Given the description of an element on the screen output the (x, y) to click on. 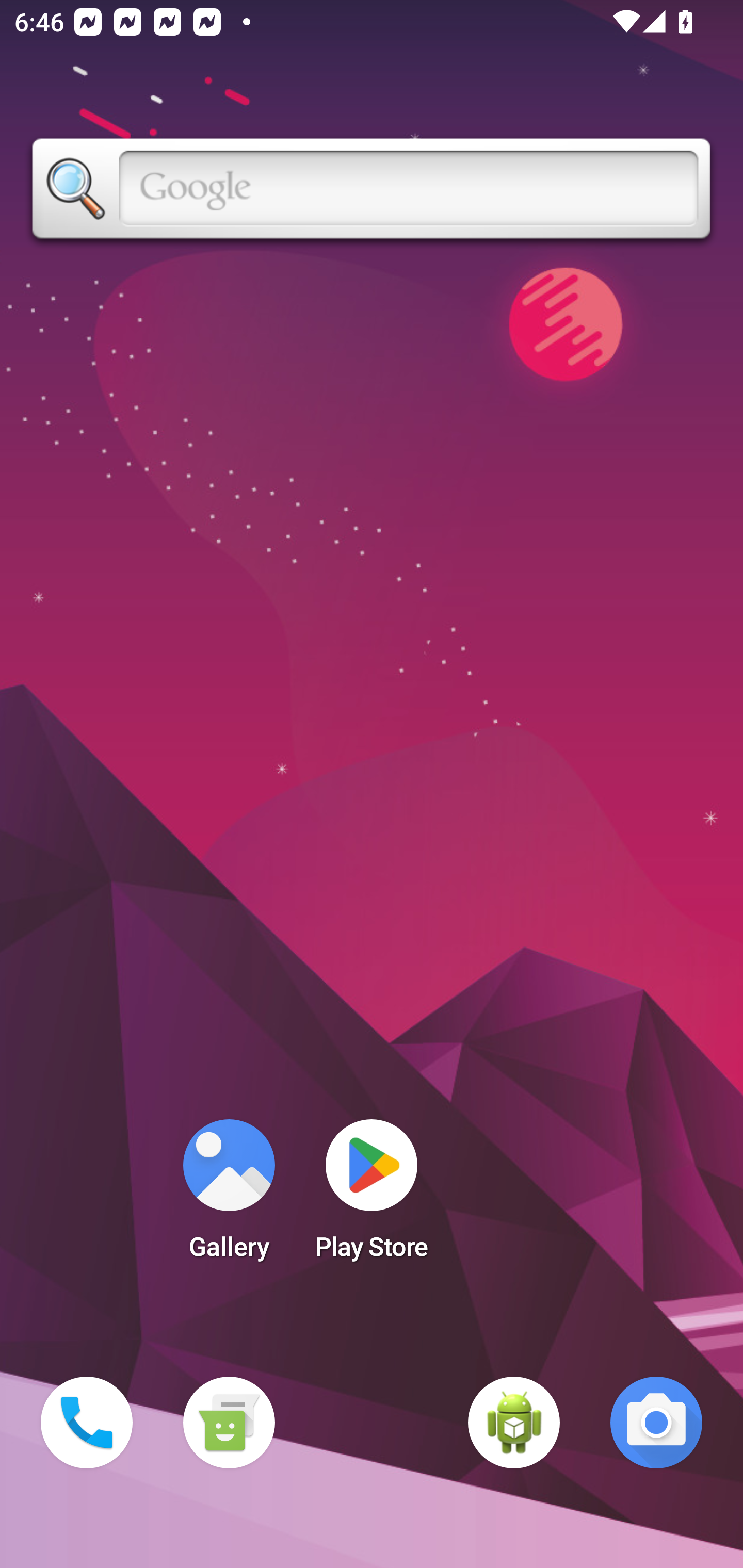
Gallery (228, 1195)
Play Store (371, 1195)
Phone (86, 1422)
Messaging (228, 1422)
WebView Browser Tester (513, 1422)
Camera (656, 1422)
